Given the description of an element on the screen output the (x, y) to click on. 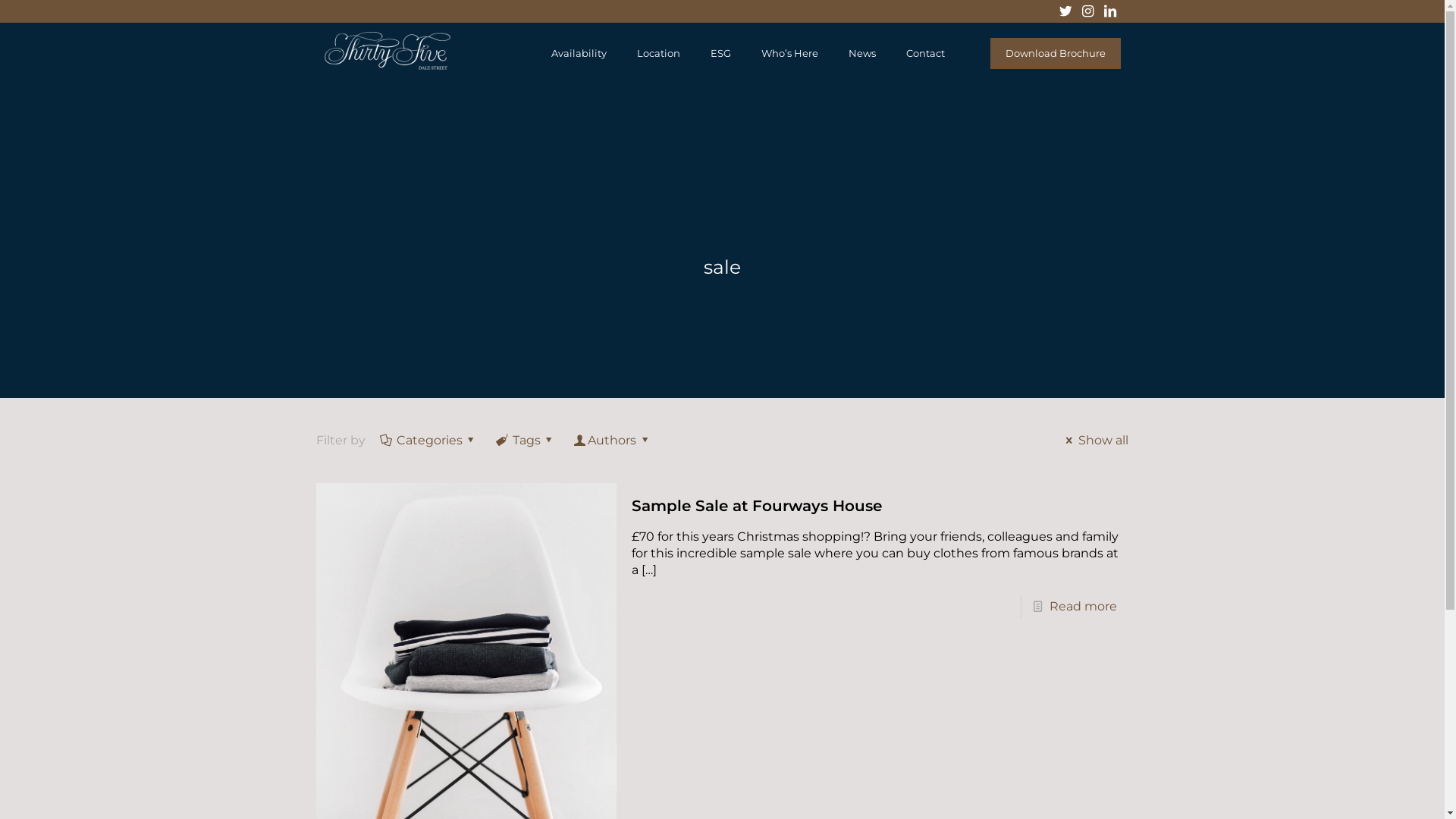
Read more Element type: text (1083, 606)
Sample Sale at Fourways House Element type: text (756, 505)
Contact Element type: text (925, 52)
Location Element type: text (658, 52)
Download Brochure Element type: text (1055, 53)
Authors Element type: text (612, 440)
Categories Element type: text (428, 440)
Show all Element type: text (1093, 440)
Tags Element type: text (525, 440)
35 Dale Street Element type: hover (386, 65)
Availability Element type: text (578, 52)
ESG Element type: text (720, 52)
News Element type: text (862, 52)
